Given the description of an element on the screen output the (x, y) to click on. 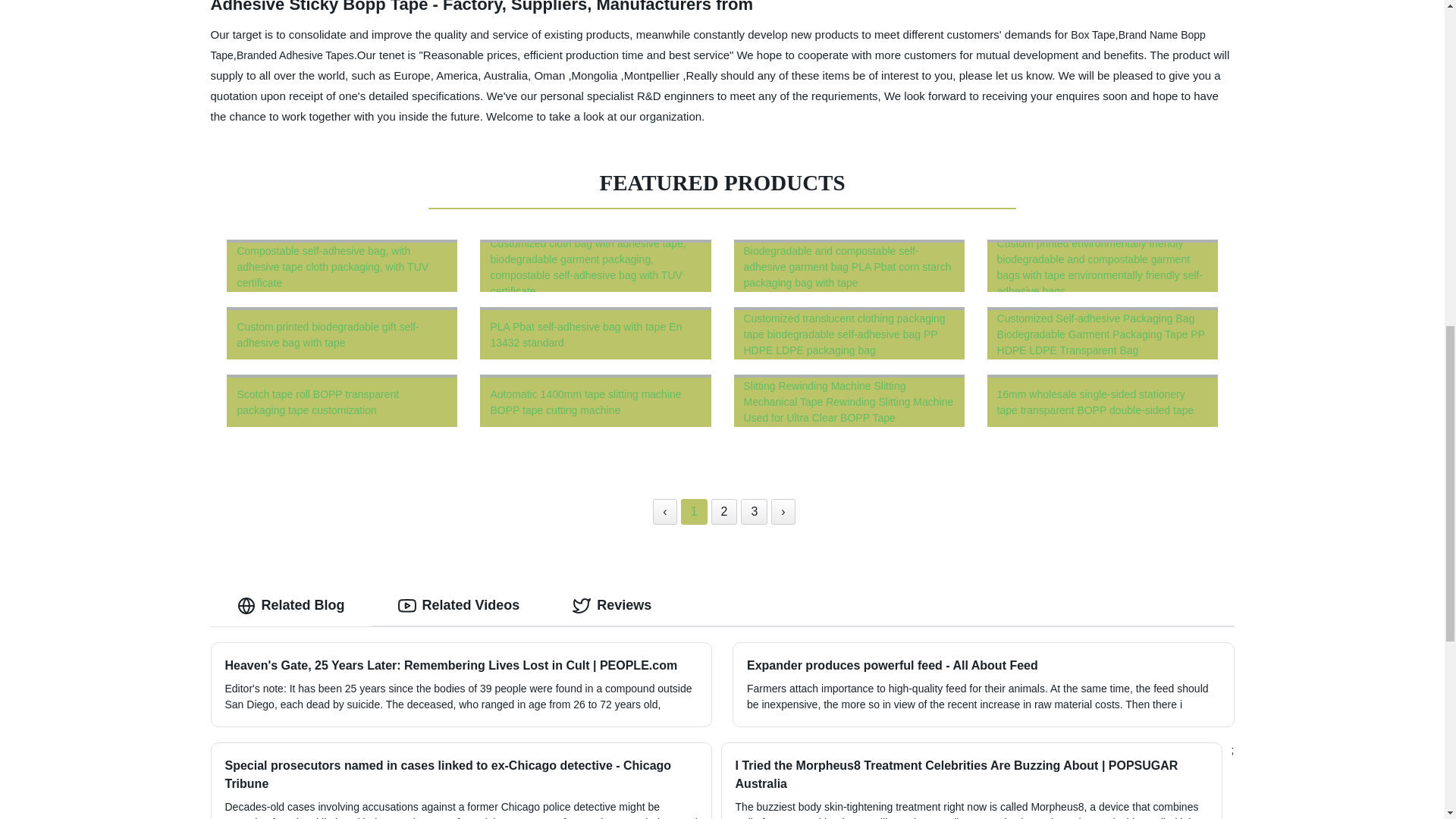
Branded Adhesive Tapes (294, 54)
Brand Name Bopp Tape (708, 44)
Brand Name Bopp Tape (708, 44)
Box Tape (1092, 34)
PLA Pbat self-adhesive bag with tape En 13432 standard (595, 332)
Branded Adhesive Tapes (294, 54)
Box Tape (1092, 34)
